Given the description of an element on the screen output the (x, y) to click on. 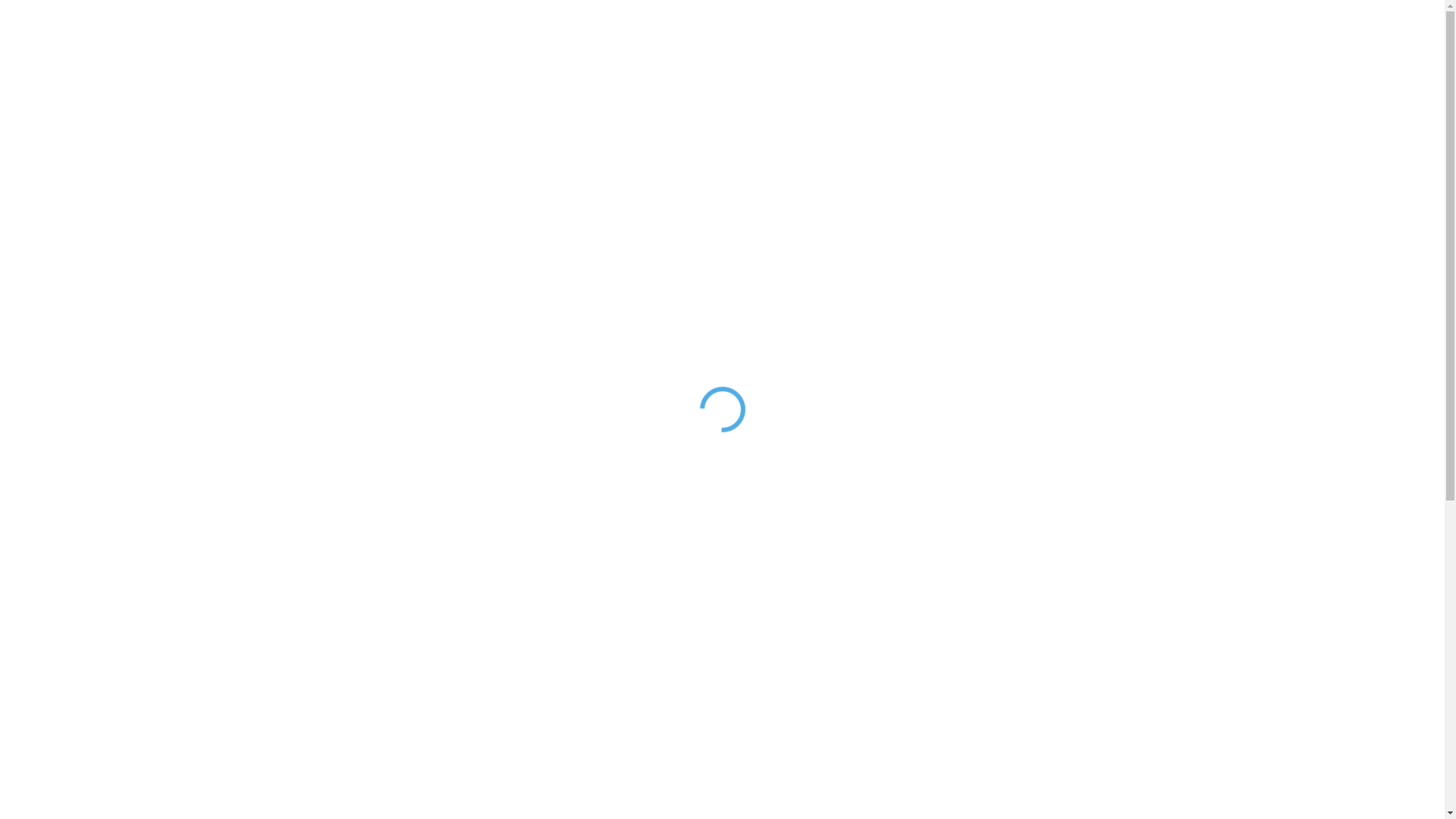
Register today Element type: text (439, 549)
Login Element type: text (513, 451)
I accept Element type: text (1390, 791)
Forgotten password Element type: text (320, 494)
Learn more Element type: text (1277, 791)
